Given the description of an element on the screen output the (x, y) to click on. 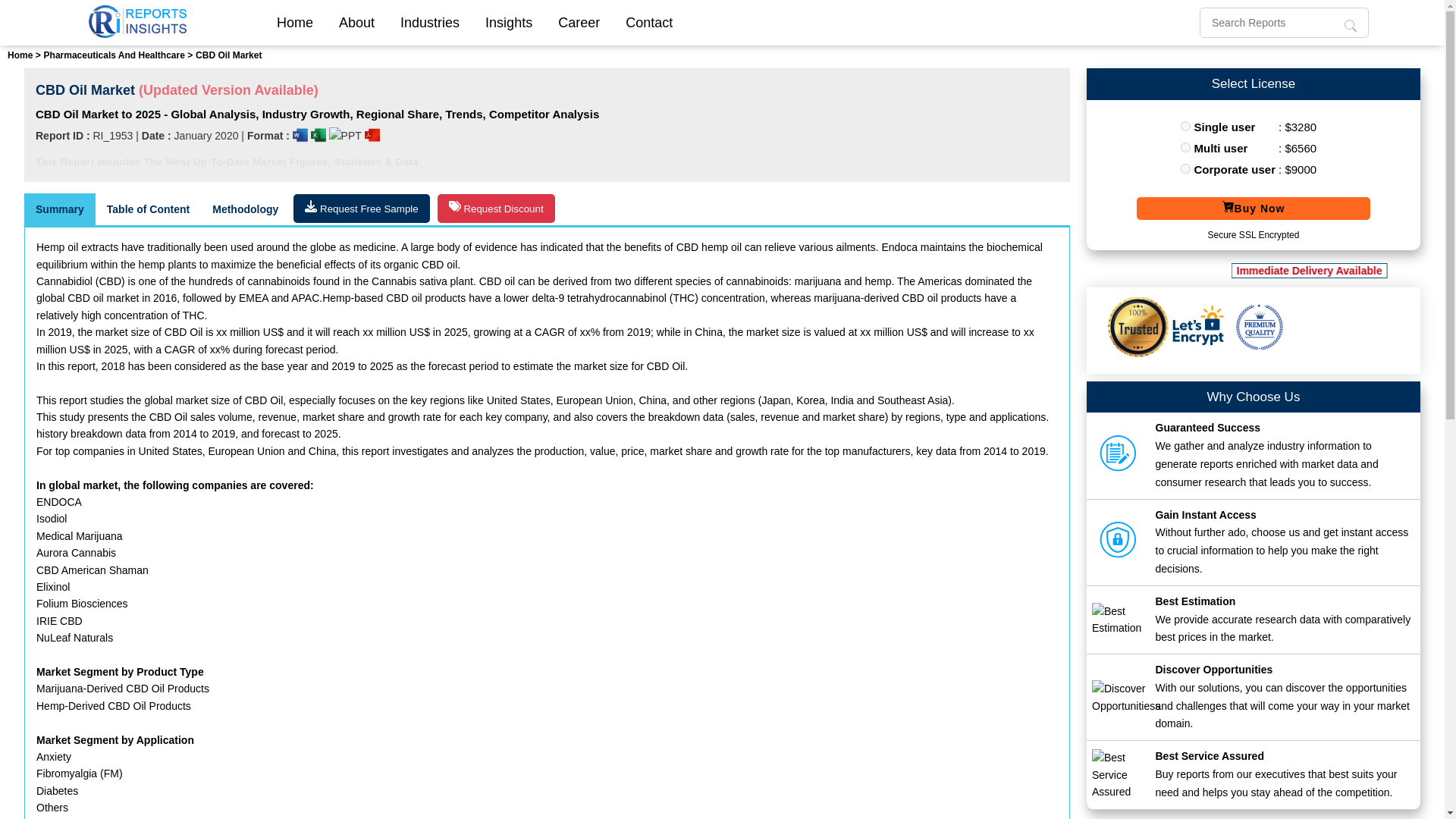
Industries (429, 22)
on (1185, 126)
Career (578, 22)
Methodology (244, 209)
Request Free Sample (360, 208)
Home (294, 22)
Insights (507, 22)
Contact (648, 22)
on (1185, 147)
Summary (60, 209)
